Given the description of an element on the screen output the (x, y) to click on. 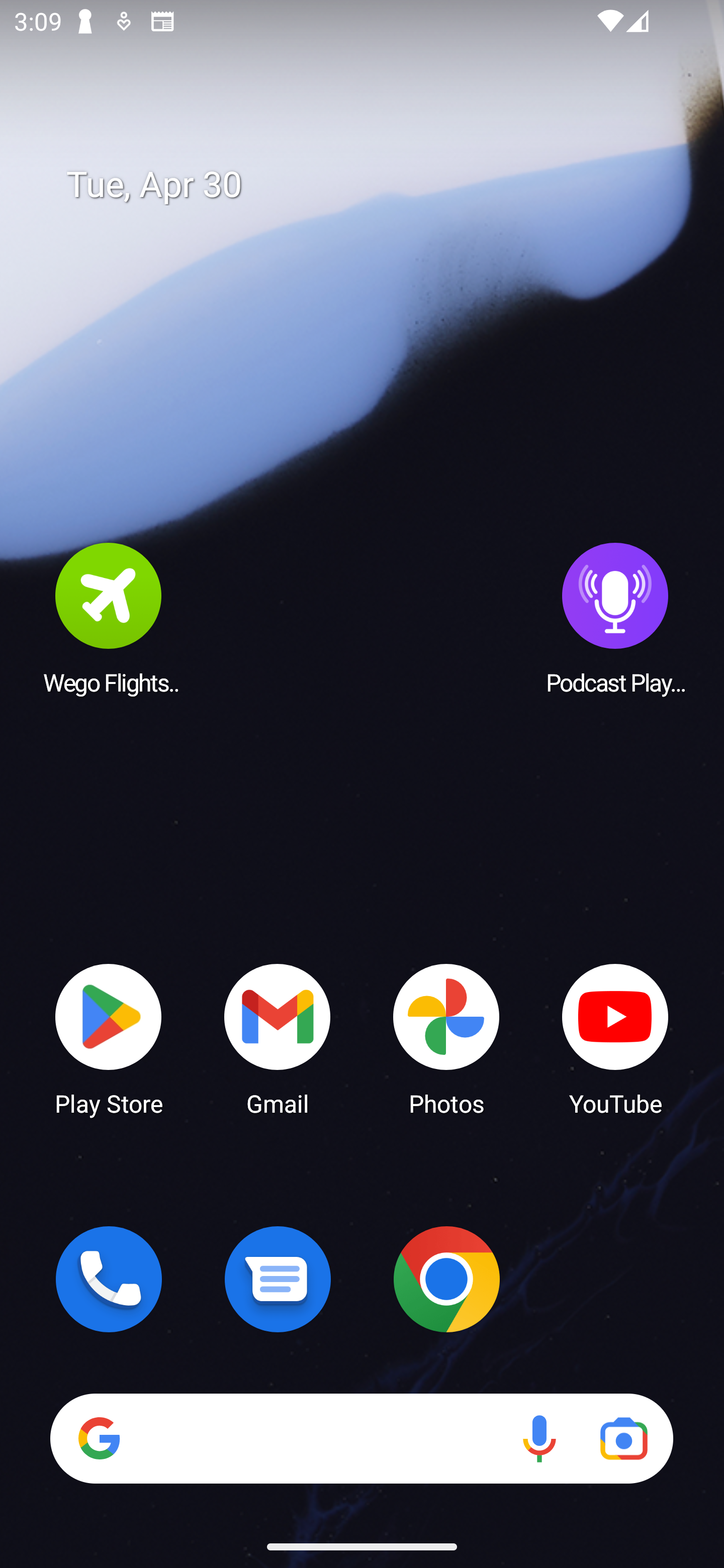
Tue, Apr 30 (375, 184)
Wego Flights & Hotels (108, 617)
Podcast Player (615, 617)
Play Store (108, 1038)
Gmail (277, 1038)
Photos (445, 1038)
YouTube (615, 1038)
Phone (108, 1279)
Messages (277, 1279)
Chrome (446, 1279)
Voice search (539, 1438)
Google Lens (623, 1438)
